Given the description of an element on the screen output the (x, y) to click on. 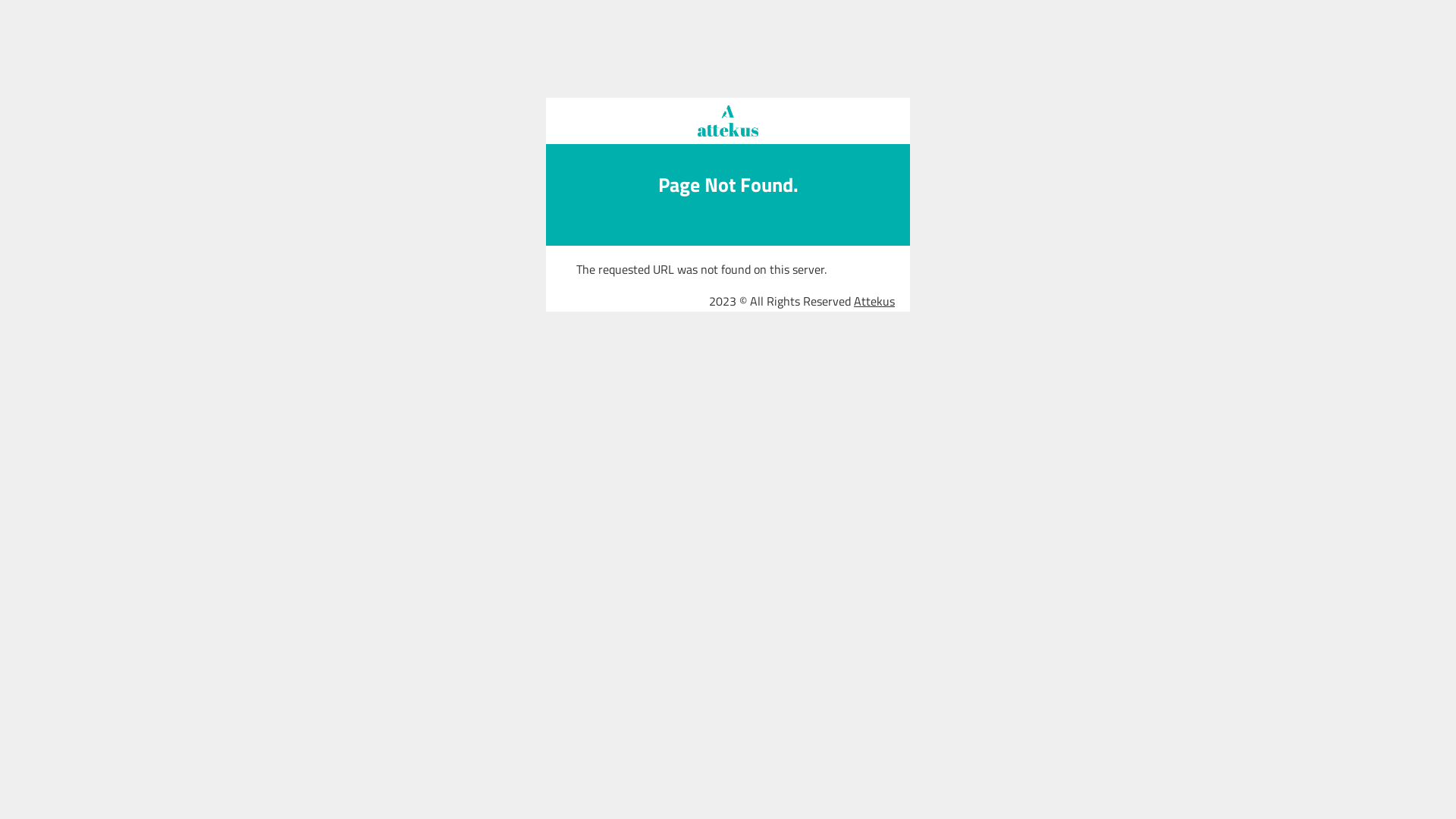
Attekus Element type: text (873, 300)
